Given the description of an element on the screen output the (x, y) to click on. 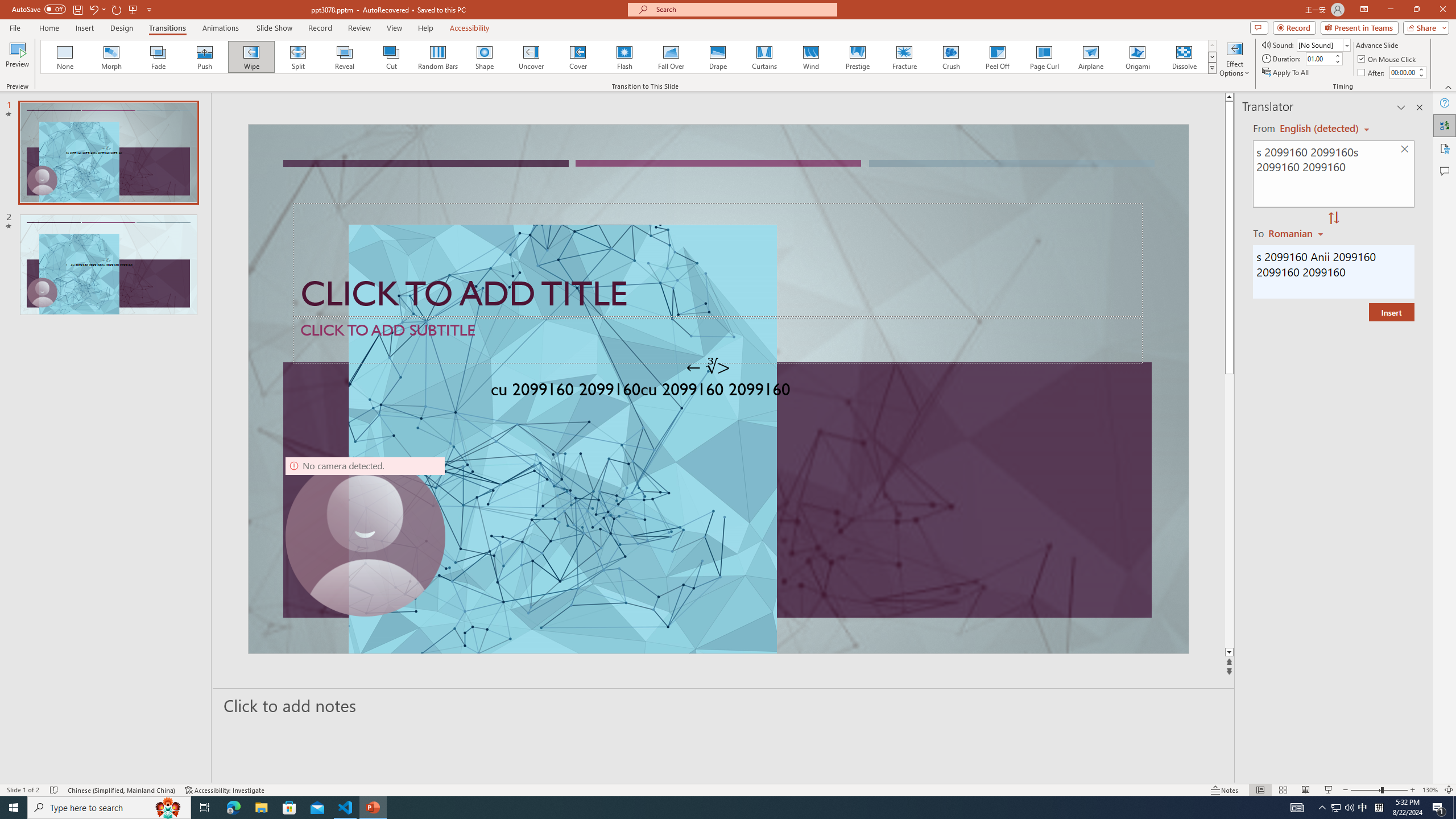
TextBox 61 (716, 391)
Romanian (1296, 232)
AutomationID: AnimationTransitionGallery (628, 56)
